Given the description of an element on the screen output the (x, y) to click on. 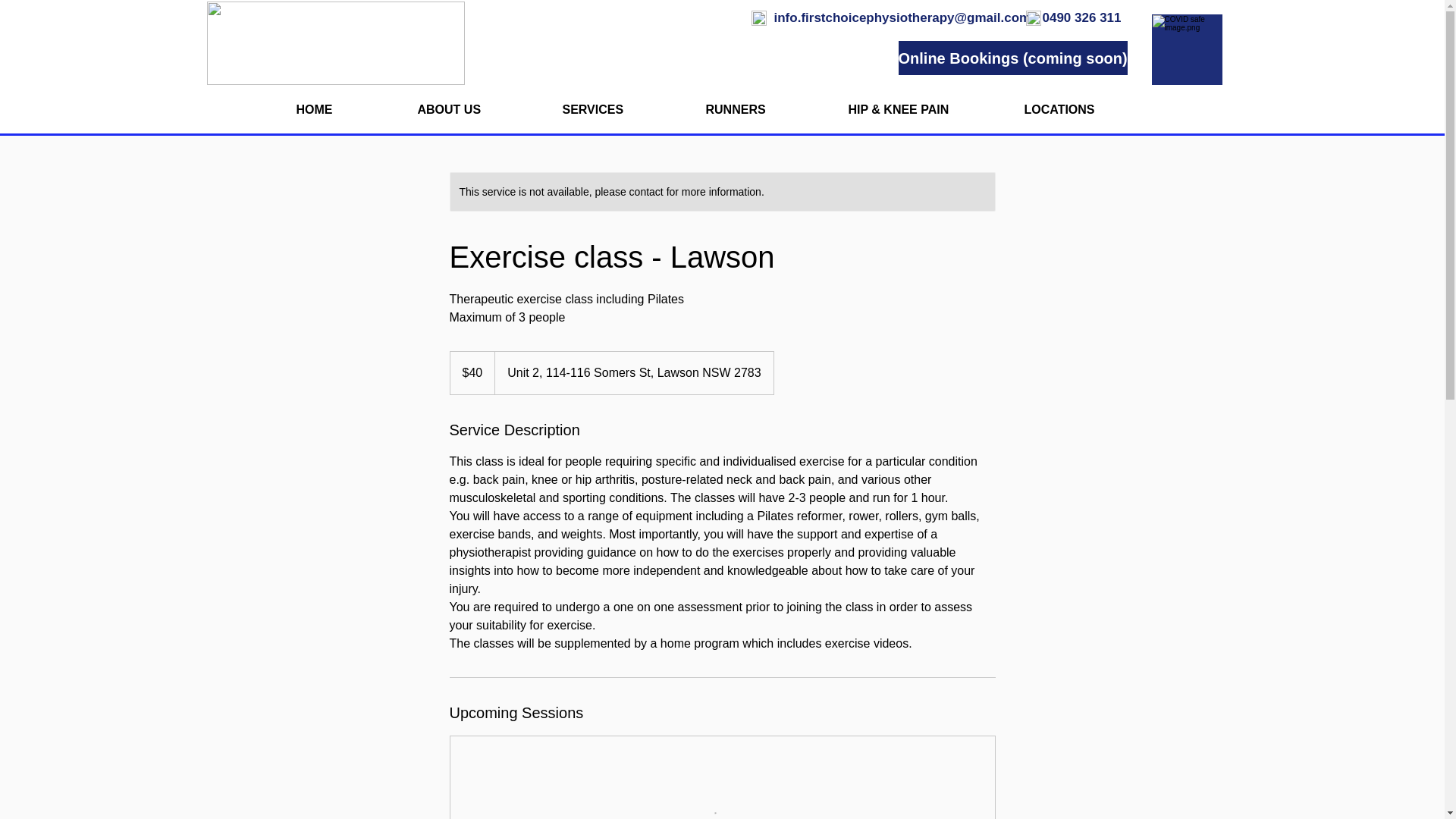
SERVICES (622, 109)
RUNNERS (765, 109)
LOCATIONS (1086, 109)
Hor logo.jpeg (335, 43)
0490 326 311 (1080, 17)
ABOUT US (478, 109)
HOME (345, 109)
